Given the description of an element on the screen output the (x, y) to click on. 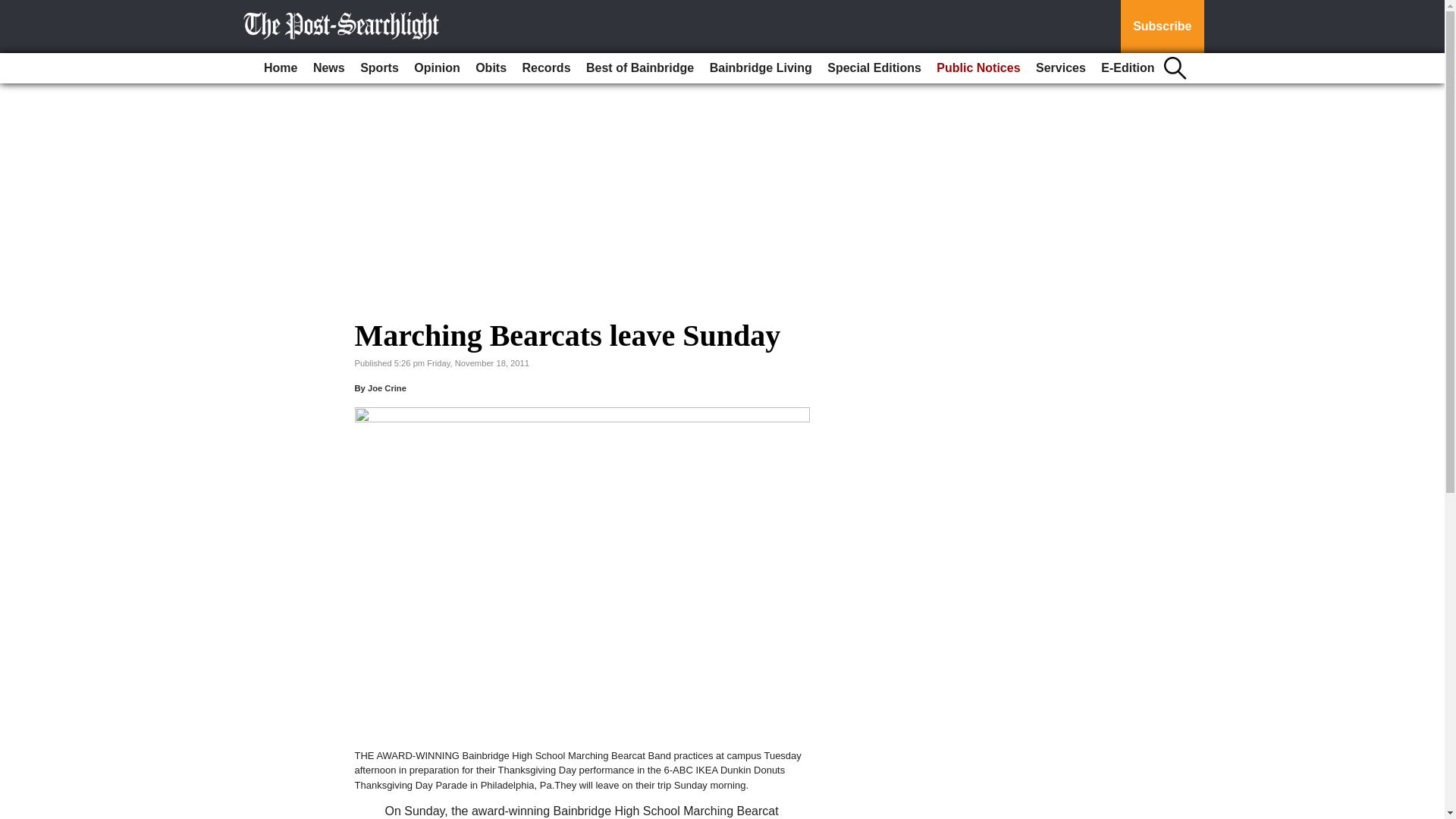
News (328, 68)
Records (546, 68)
Obits (490, 68)
Public Notices (978, 68)
Home (279, 68)
E-Edition (1127, 68)
Sports (378, 68)
Subscribe (1162, 26)
Best of Bainbridge (639, 68)
Services (1060, 68)
Go (13, 9)
Special Editions (874, 68)
Joe Crine (387, 388)
Bainbridge Living (760, 68)
